Given the description of an element on the screen output the (x, y) to click on. 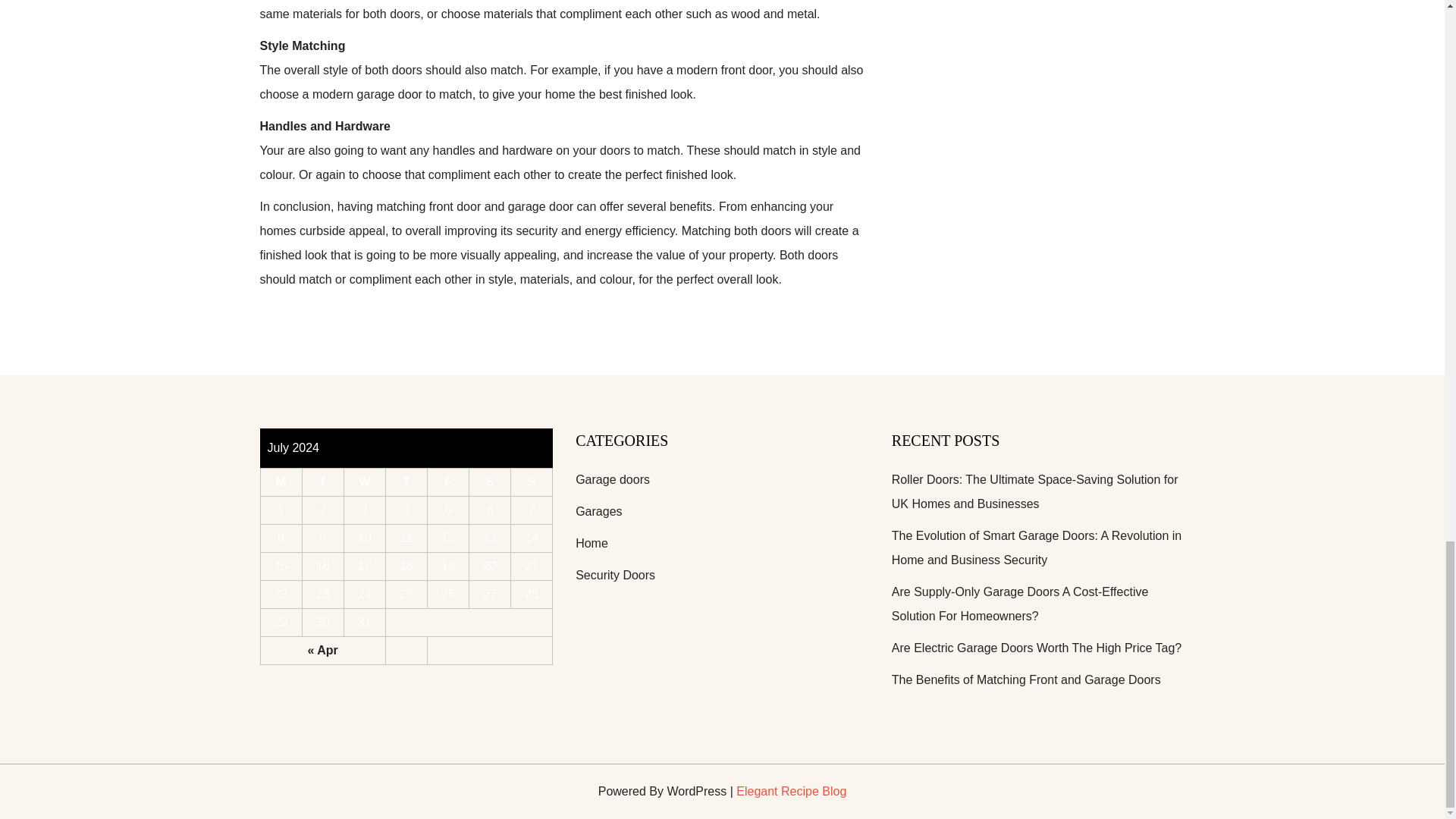
Garages (598, 511)
Friday (447, 481)
Elegant Recipe Blog (790, 790)
Home (591, 543)
Saturday (489, 481)
Are Electric Garage Doors Worth The High Price Tag? (1035, 647)
The Benefits of Matching Front and Garage Doors (1025, 679)
Monday (280, 481)
Wednesday (364, 481)
Thursday (405, 481)
Sunday (532, 481)
Tuesday (322, 481)
